Given the description of an element on the screen output the (x, y) to click on. 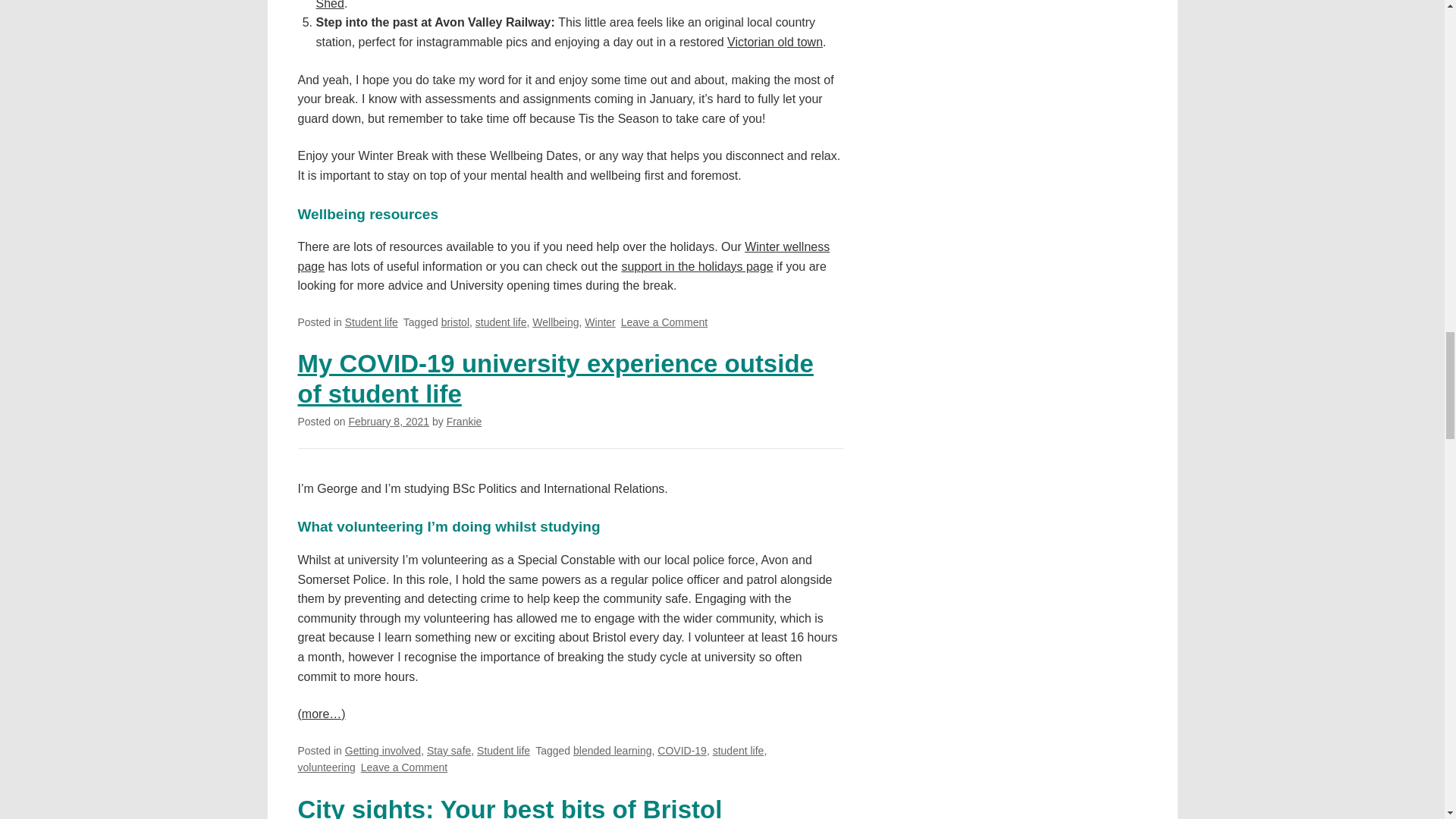
Victorian old town (774, 42)
My COVID-19 university experience outside of student life (554, 378)
February 8, 2021 (388, 421)
upport in the holidays page (700, 266)
the V-Shed (574, 4)
Student life (371, 322)
Winter (599, 322)
Wellbeing (555, 322)
student life (501, 322)
bristol (454, 322)
